Given the description of an element on the screen output the (x, y) to click on. 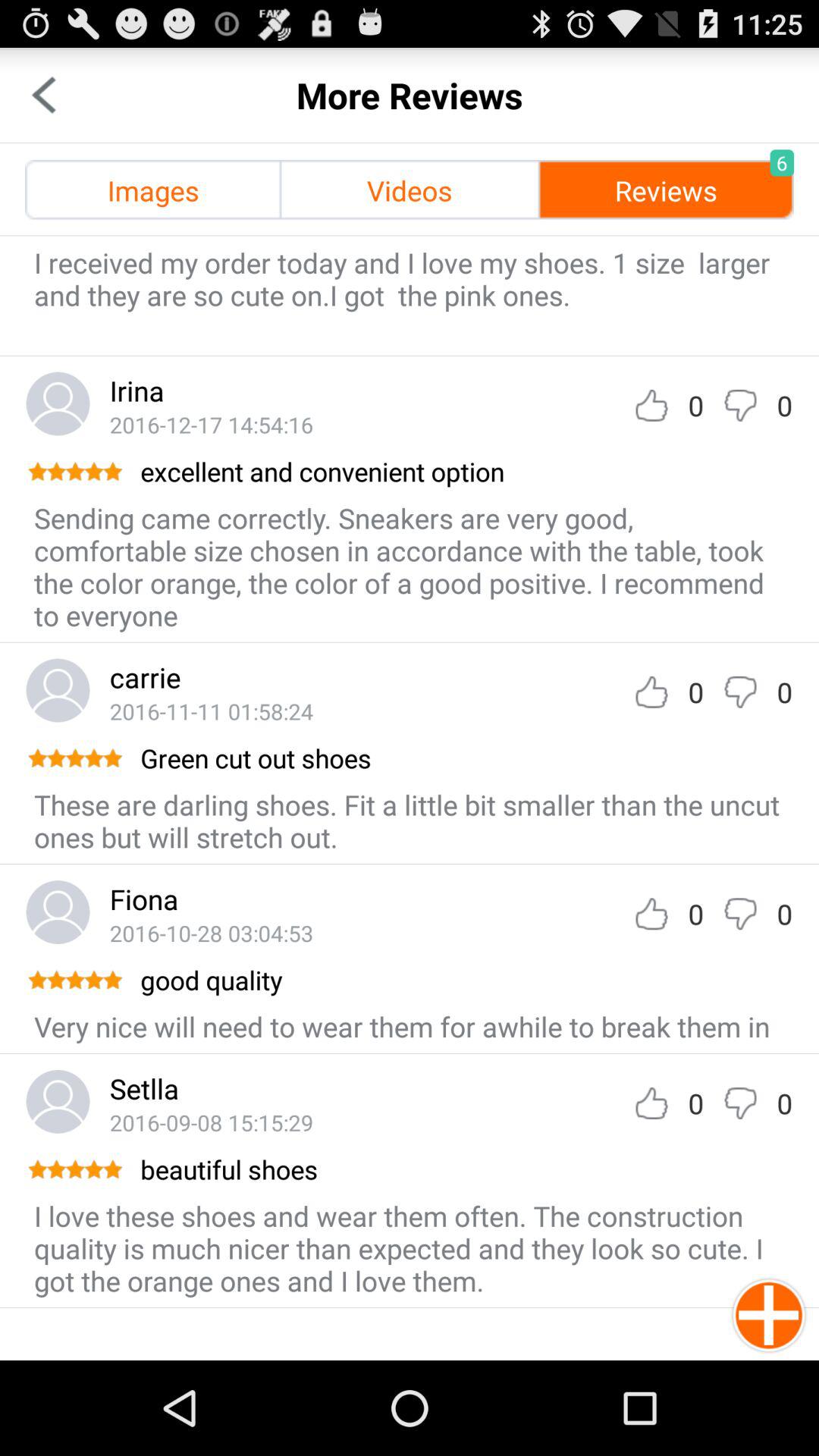
thumbds down (740, 692)
